Given the description of an element on the screen output the (x, y) to click on. 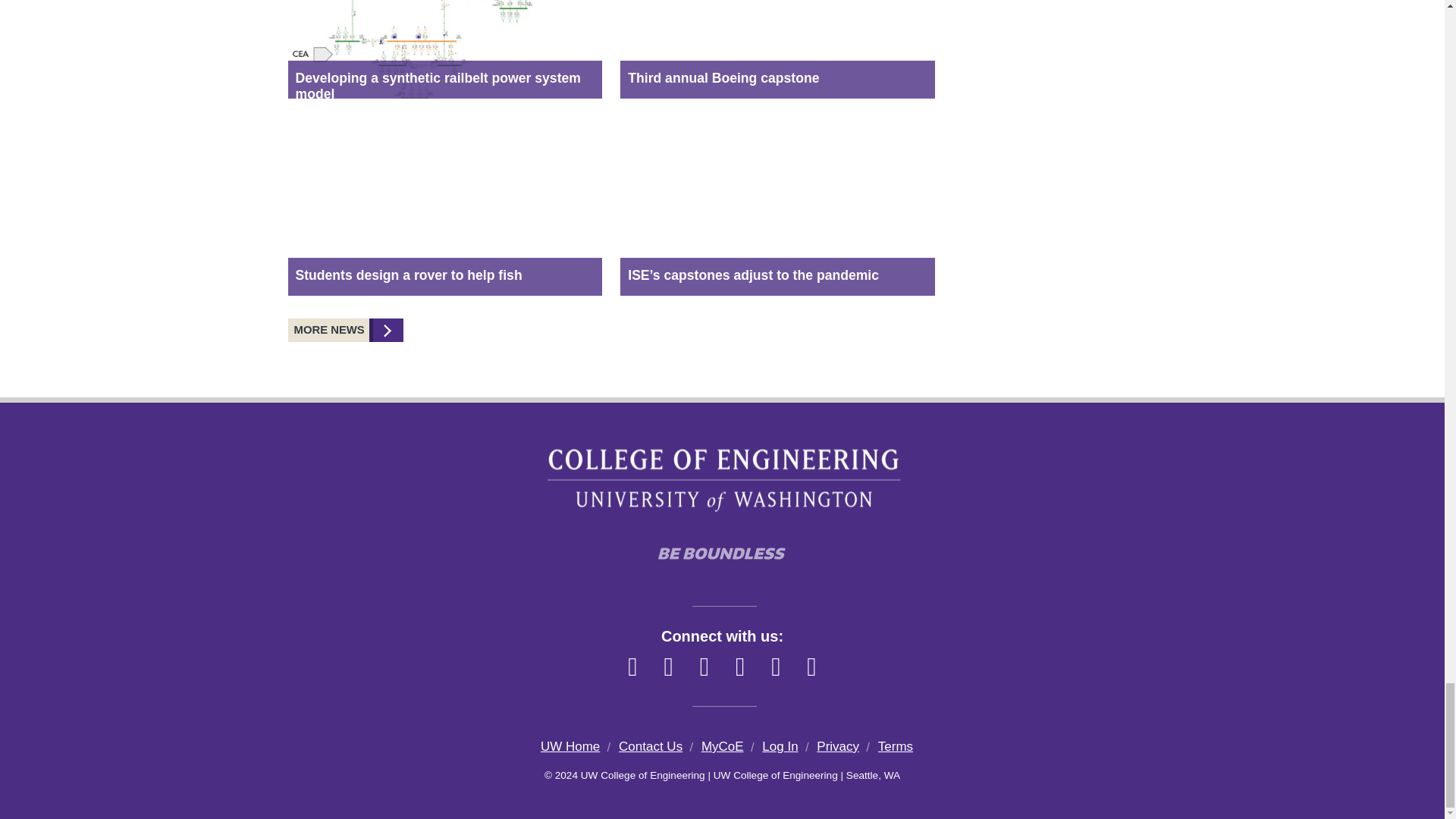
linkedin (704, 667)
facebook (632, 667)
instagram (668, 667)
newsletter (740, 667)
twitter (776, 667)
youtube (811, 667)
